Given the description of an element on the screen output the (x, y) to click on. 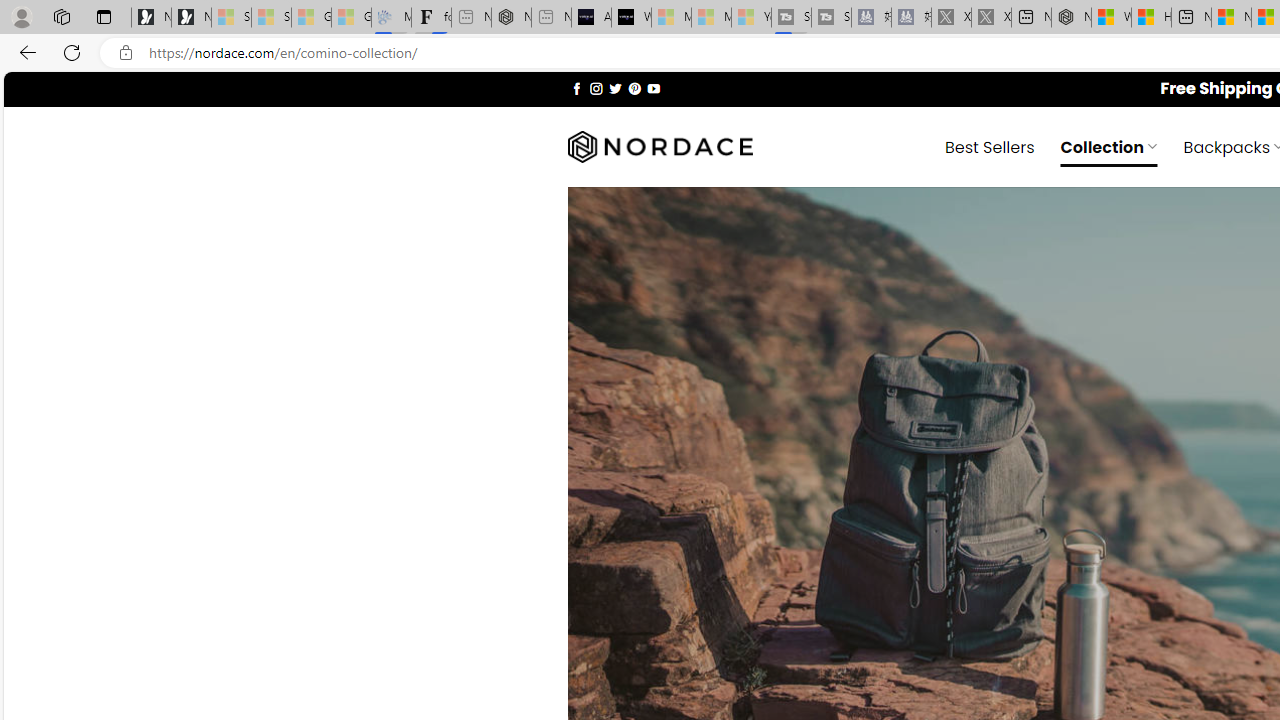
Follow on Pinterest (634, 88)
Follow on Facebook (576, 88)
 Best Sellers (989, 146)
What's the best AI voice generator? - voice.ai (631, 17)
AI Voice Changer for PC and Mac - Voice.ai (591, 17)
X - Sleeping (991, 17)
Microsoft Start - Sleeping (711, 17)
